Given the description of an element on the screen output the (x, y) to click on. 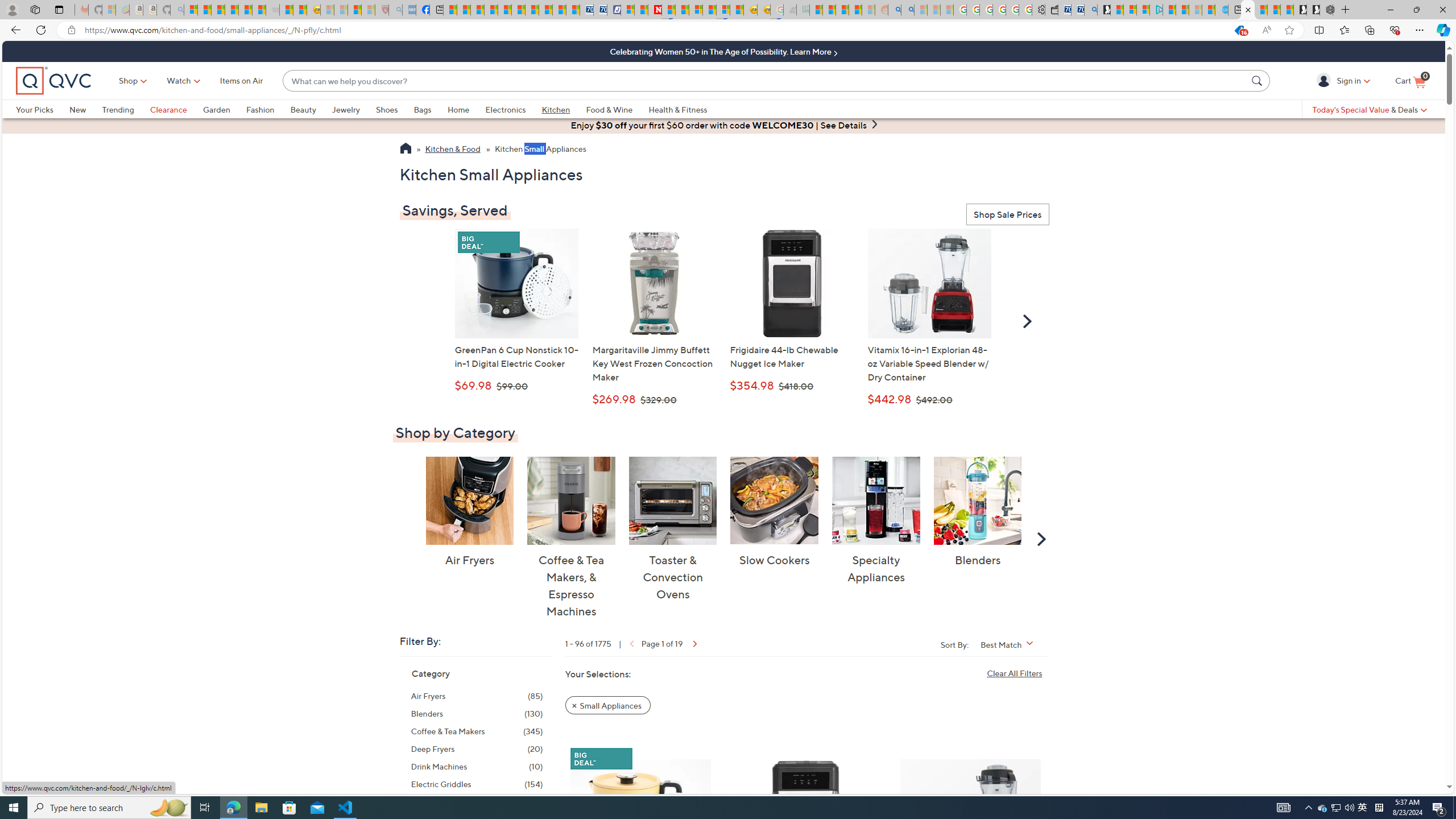
Cart is Empty  (1409, 81)
Shoes (386, 109)
Shoes (394, 109)
Coffee & Tea Makers, & Espresso Machines (571, 500)
Category (430, 673)
Trending (117, 109)
 Frigidaire 44-lb Chewable Nugget Ice Maker - K86274 (791, 283)
